Given the description of an element on the screen output the (x, y) to click on. 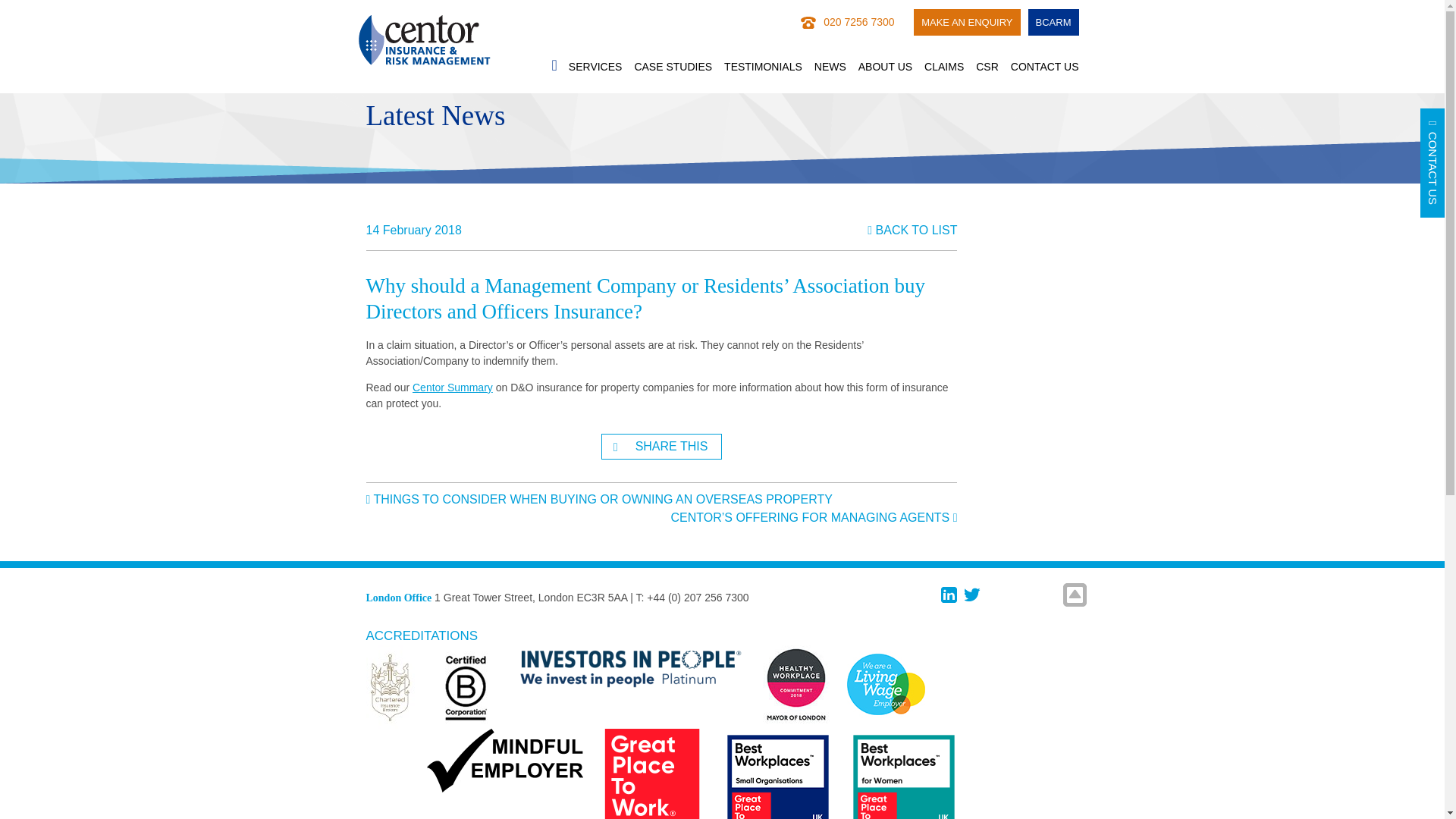
CASE STUDIES (672, 66)
CONTACT US (1044, 66)
MAKE AN ENQUIRY (966, 21)
CSR (986, 66)
SHARE THIS (661, 446)
 BACK TO LIST (911, 229)
Centor Summary (452, 387)
020 7256 7300 (858, 21)
CLAIMS (943, 66)
BCARM (1053, 21)
ABOUT US (885, 66)
SERVICES (596, 66)
NEWS (829, 66)
TESTIMONIALS (762, 66)
